Given the description of an element on the screen output the (x, y) to click on. 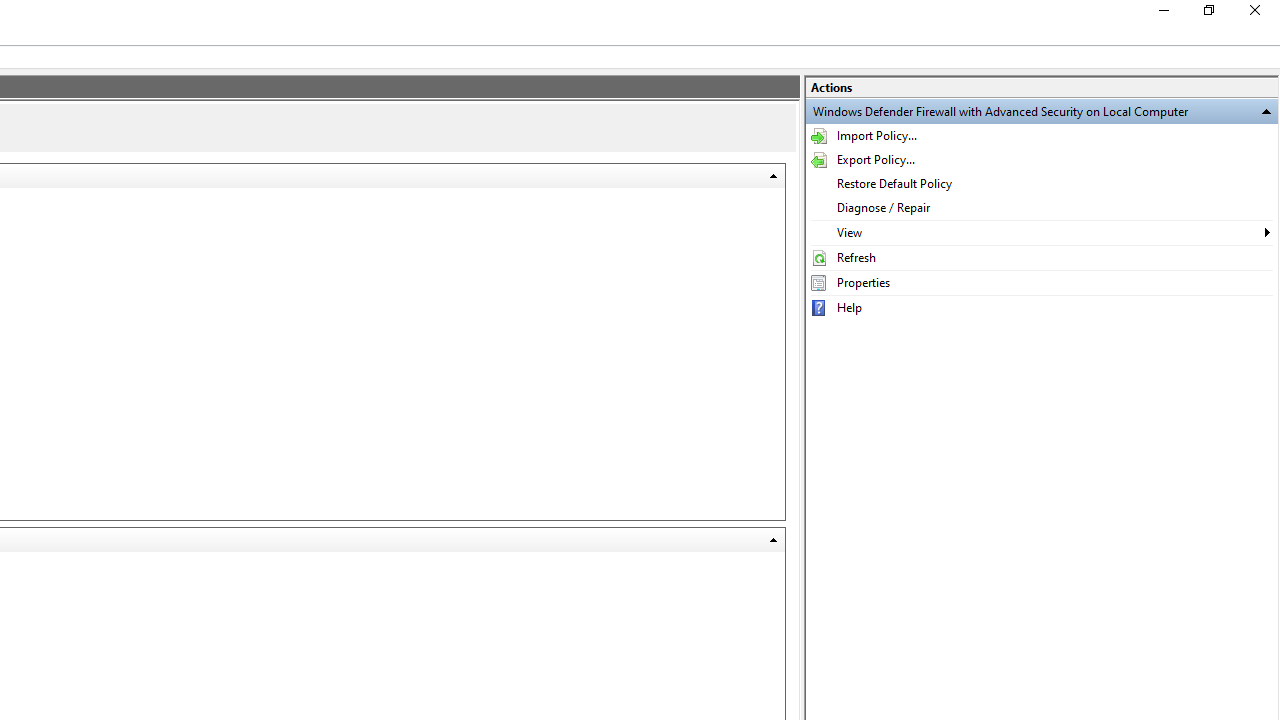
Import Policy... (1041, 135)
Minimize (1162, 14)
Properties (1041, 282)
Restore (1208, 14)
Help (1041, 307)
Restore Default Policy (1041, 183)
Export Policy... (1041, 160)
Refresh (1041, 258)
Diagnose / Repair (1041, 207)
View (1041, 232)
